Given the description of an element on the screen output the (x, y) to click on. 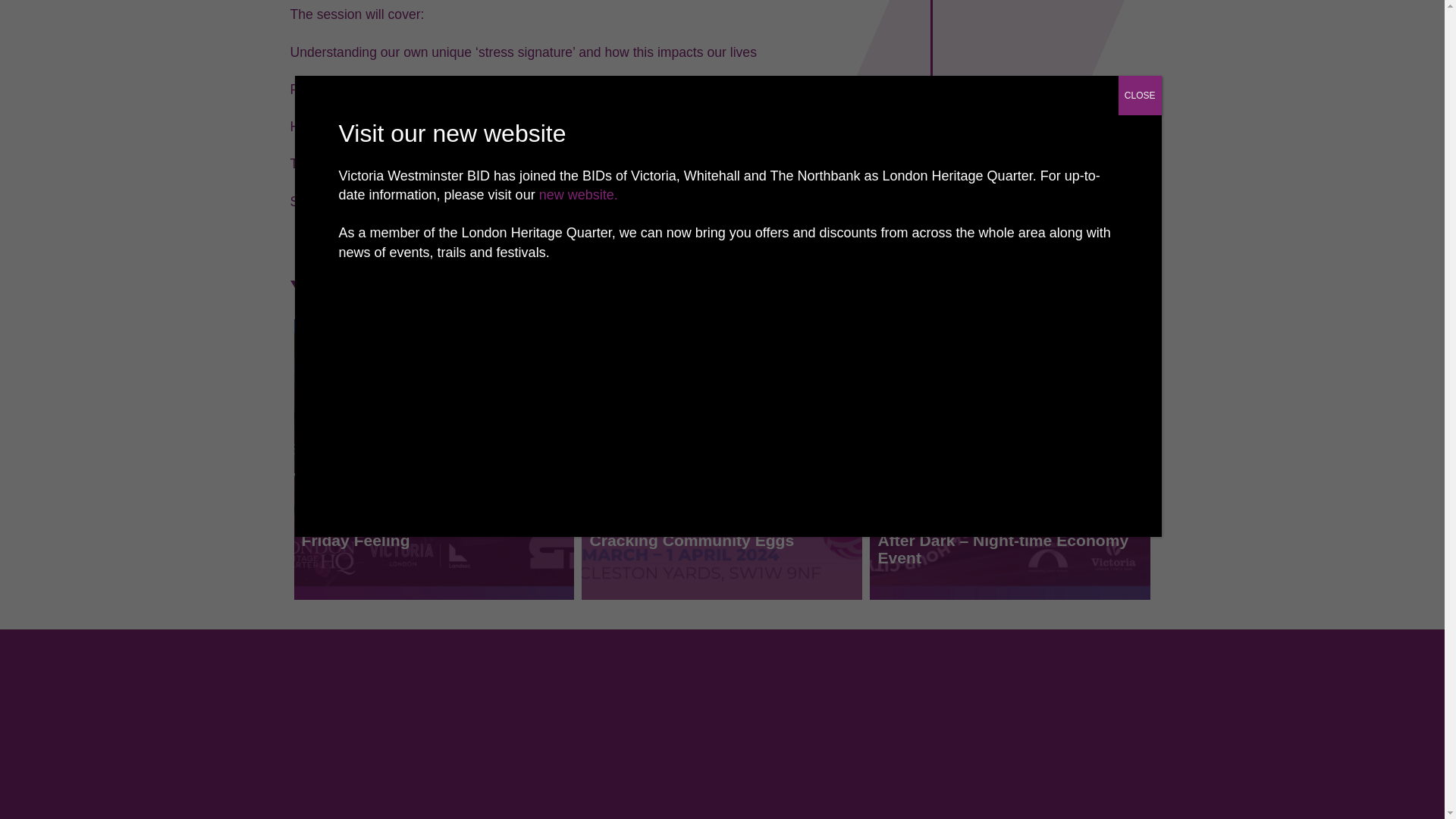
here (352, 201)
